Given the description of an element on the screen output the (x, y) to click on. 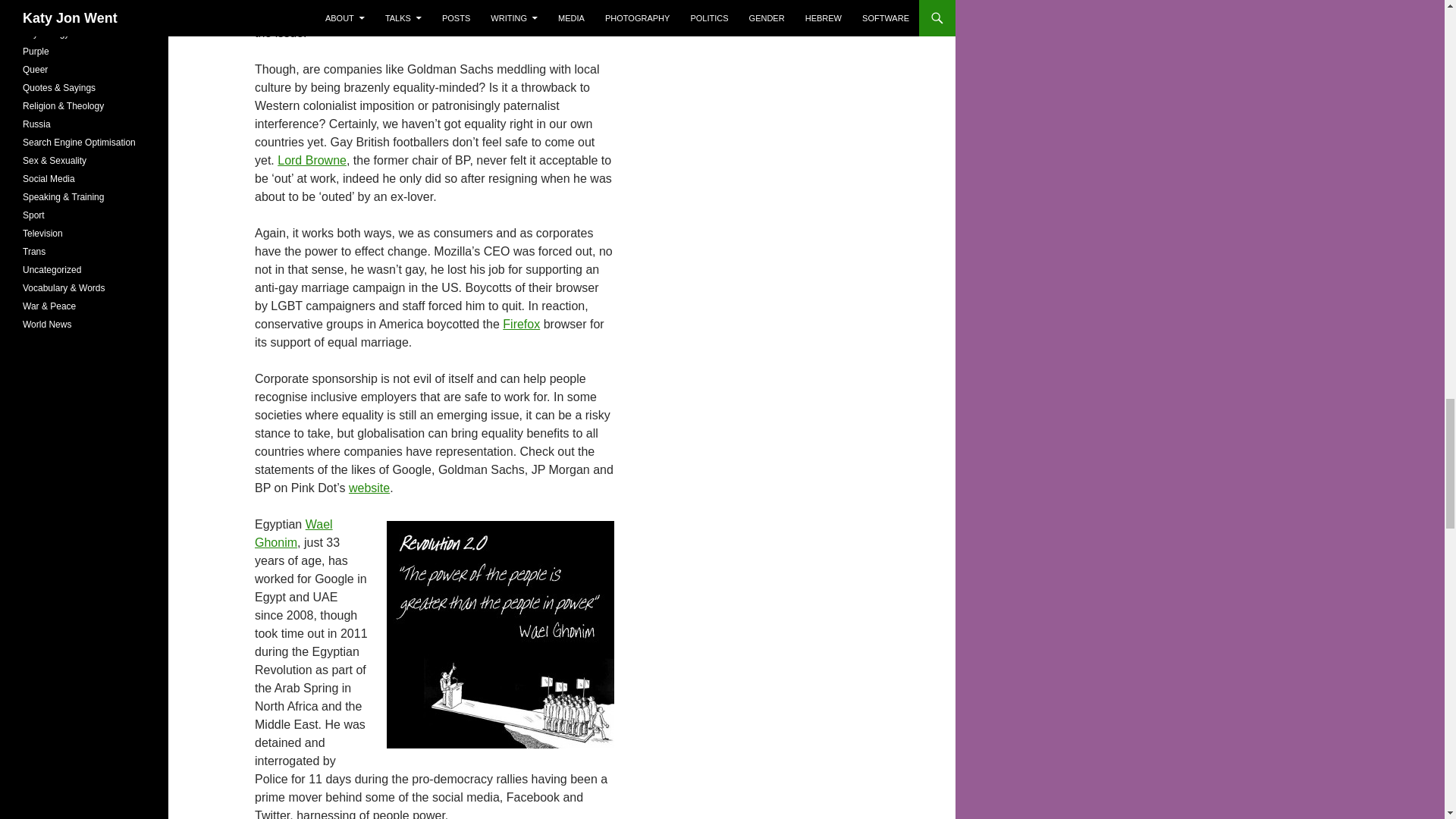
Mozilla Firefox boycott over gay marriage (521, 323)
Lord Browne on 'coming out' (312, 160)
Rainbow search terms on Google (421, 10)
